Given the description of an element on the screen output the (x, y) to click on. 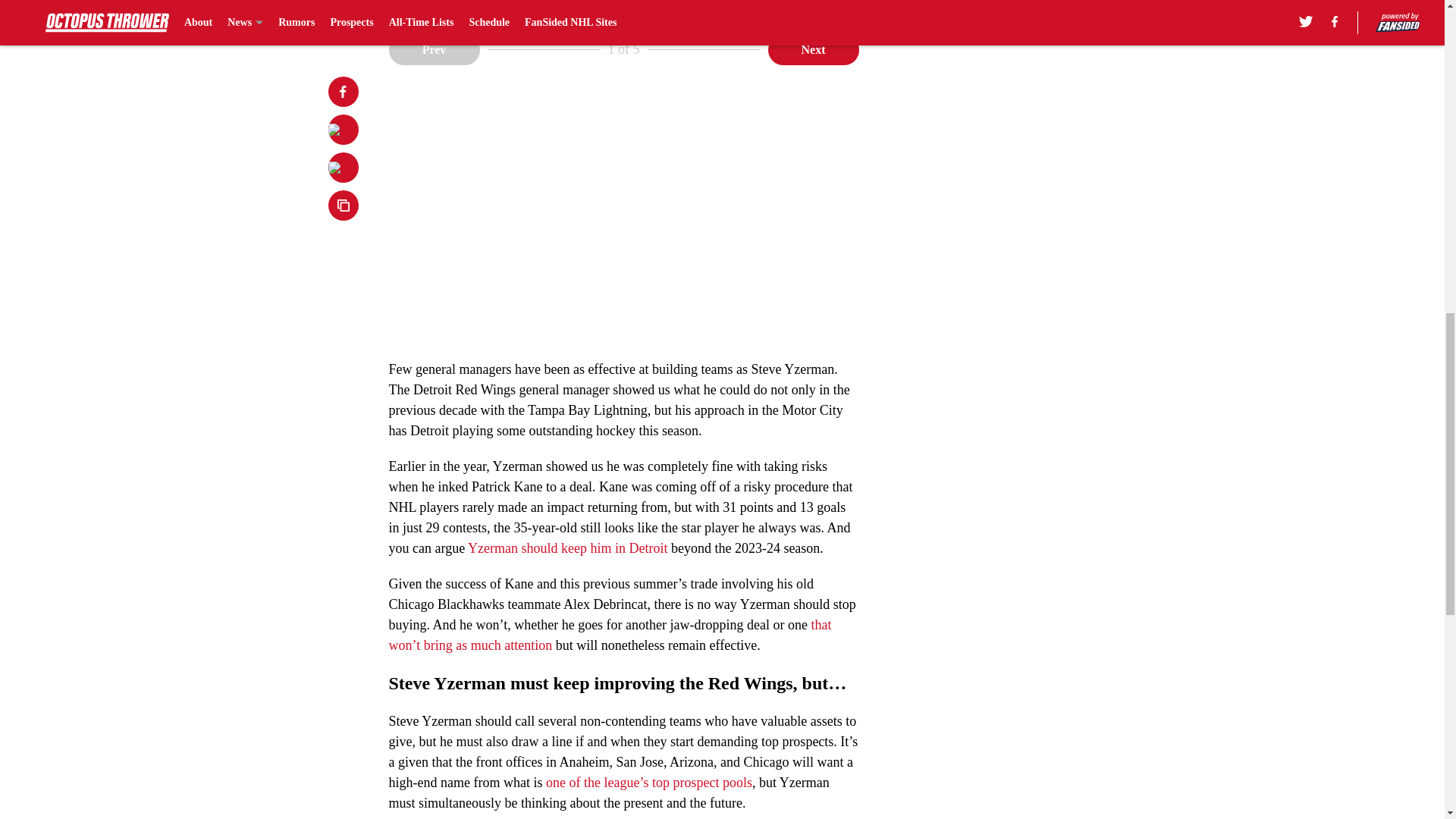
Prev (433, 50)
Next (813, 50)
Yzerman should keep him in Detroit (566, 548)
